Given the description of an element on the screen output the (x, y) to click on. 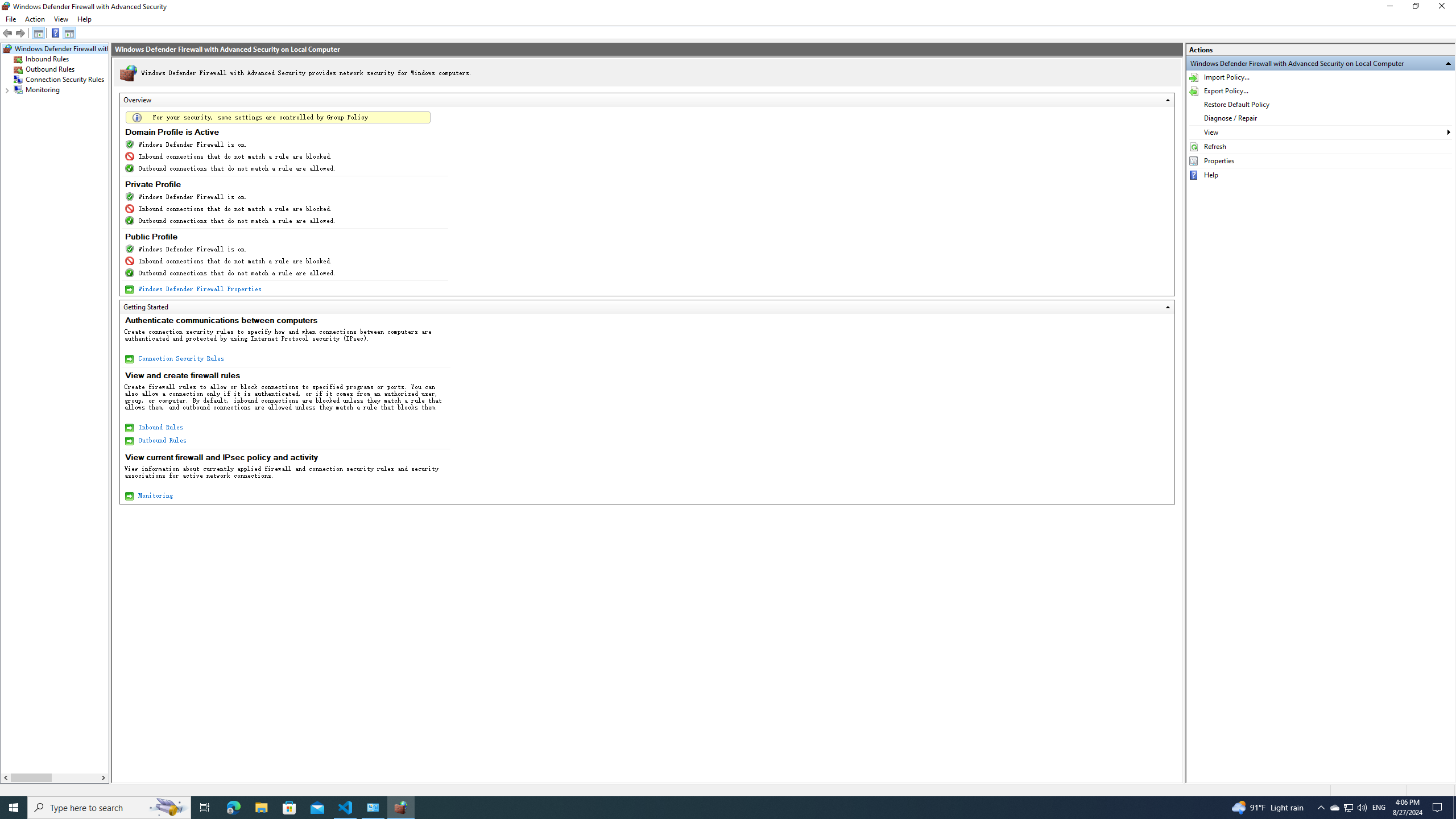
Help (84, 19)
Connection Security Rules (64, 79)
AutomationID: 4098 (728, 33)
Inbound Rules (46, 58)
Minimize (1388, 8)
Page right (75, 777)
Restore (1415, 8)
Export Policy... (1320, 90)
Outbound Rules (161, 439)
